Given the description of an element on the screen output the (x, y) to click on. 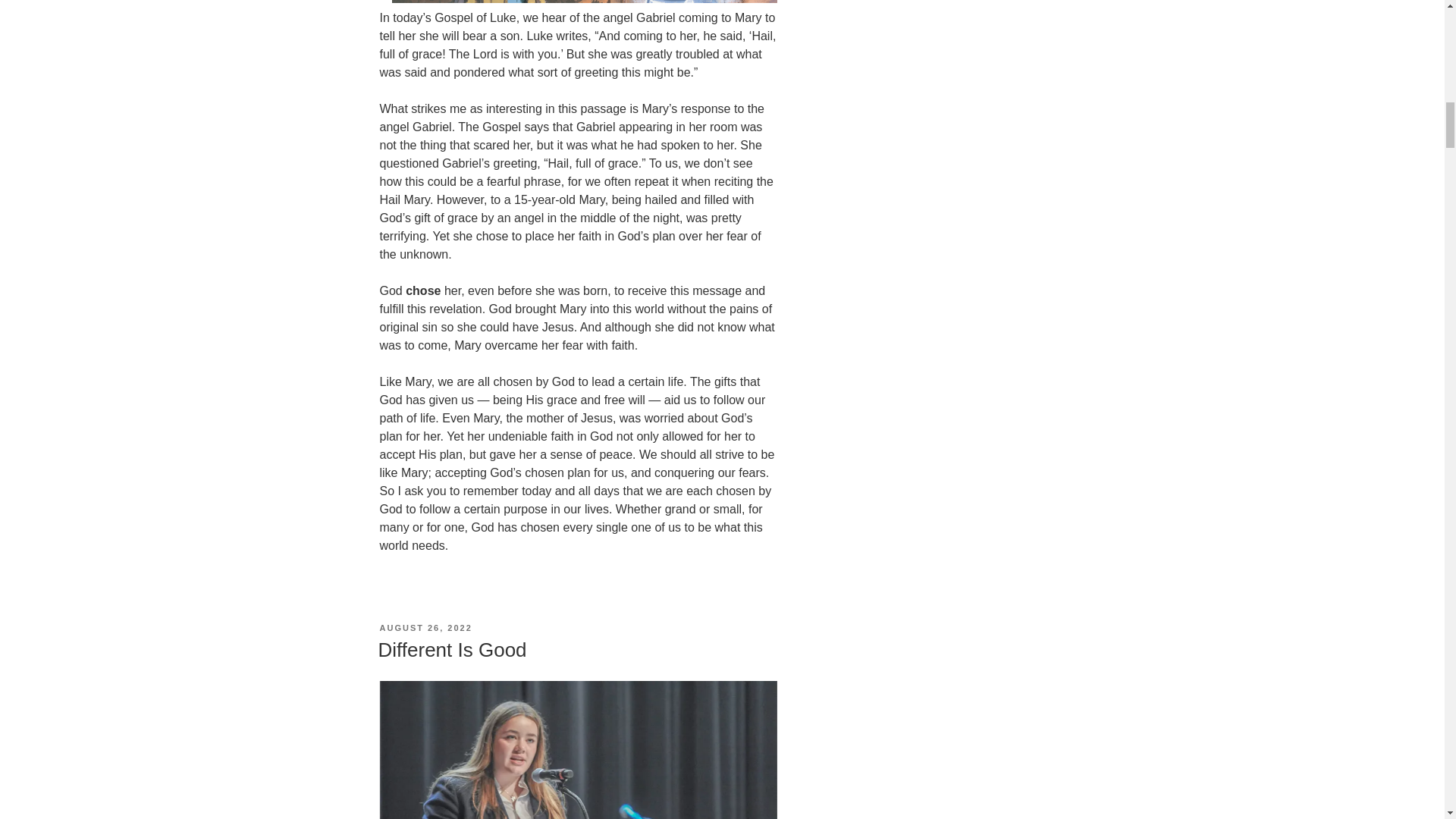
AUGUST 26, 2022 (424, 627)
Different Is Good (451, 649)
